Given the description of an element on the screen output the (x, y) to click on. 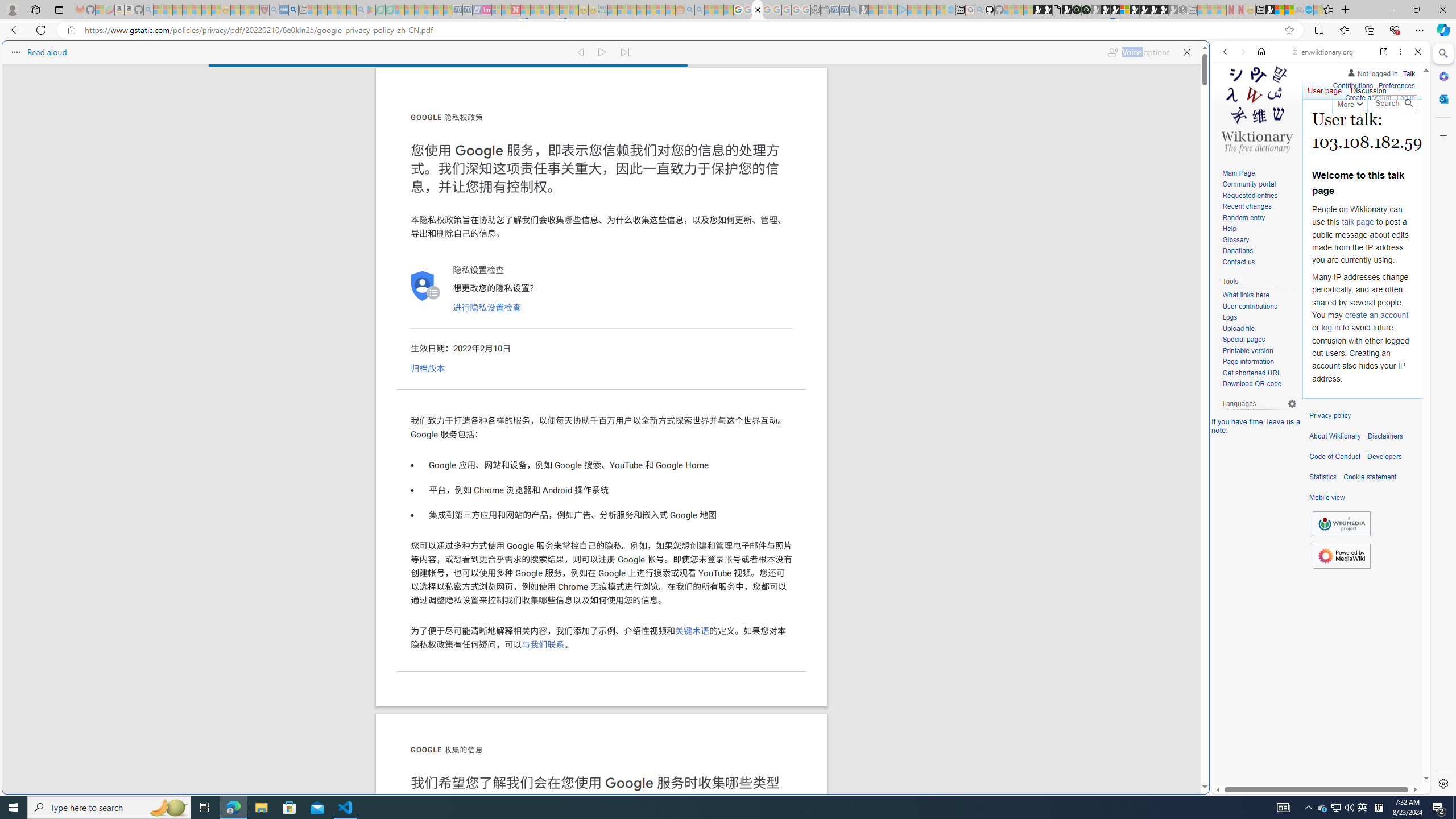
Latest Politics News & Archive | Newsweek.com - Sleeping (515, 9)
Random entry (1243, 216)
Cheap Hotels - Save70.com - Sleeping (467, 9)
Settings - Sleeping (815, 9)
Terms of Use Agreement - Sleeping (380, 9)
Not logged in (1371, 71)
Code of Conduct (1334, 456)
